Given the description of an element on the screen output the (x, y) to click on. 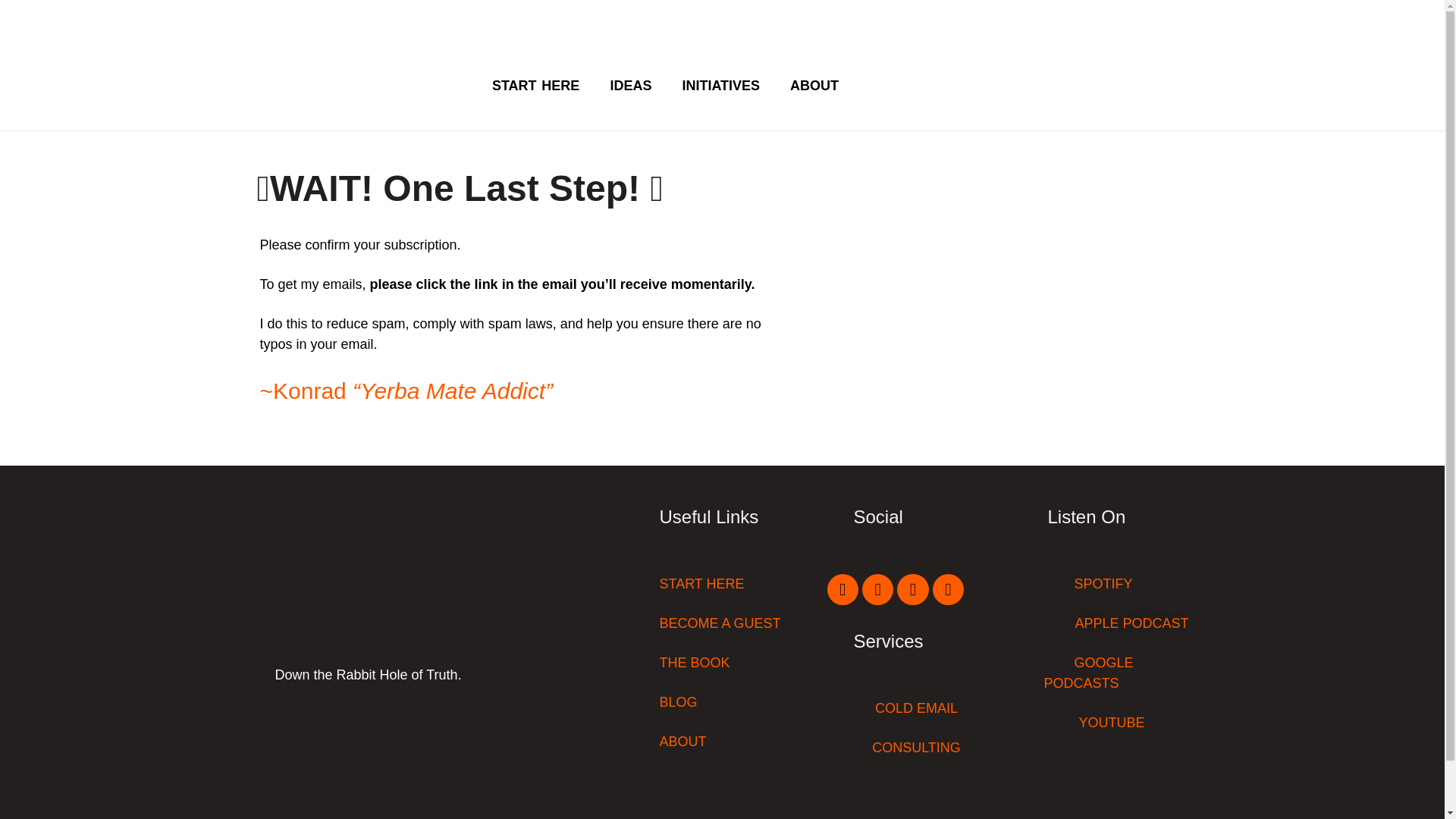
Join the Quest (910, 84)
START HERE (701, 583)
THE BOOK (694, 662)
ABOUT (813, 86)
BECOME A GUEST (719, 622)
START HERE (535, 86)
INITIATIVES (720, 86)
BLOG (678, 702)
IDEAS (630, 86)
